Given the description of an element on the screen output the (x, y) to click on. 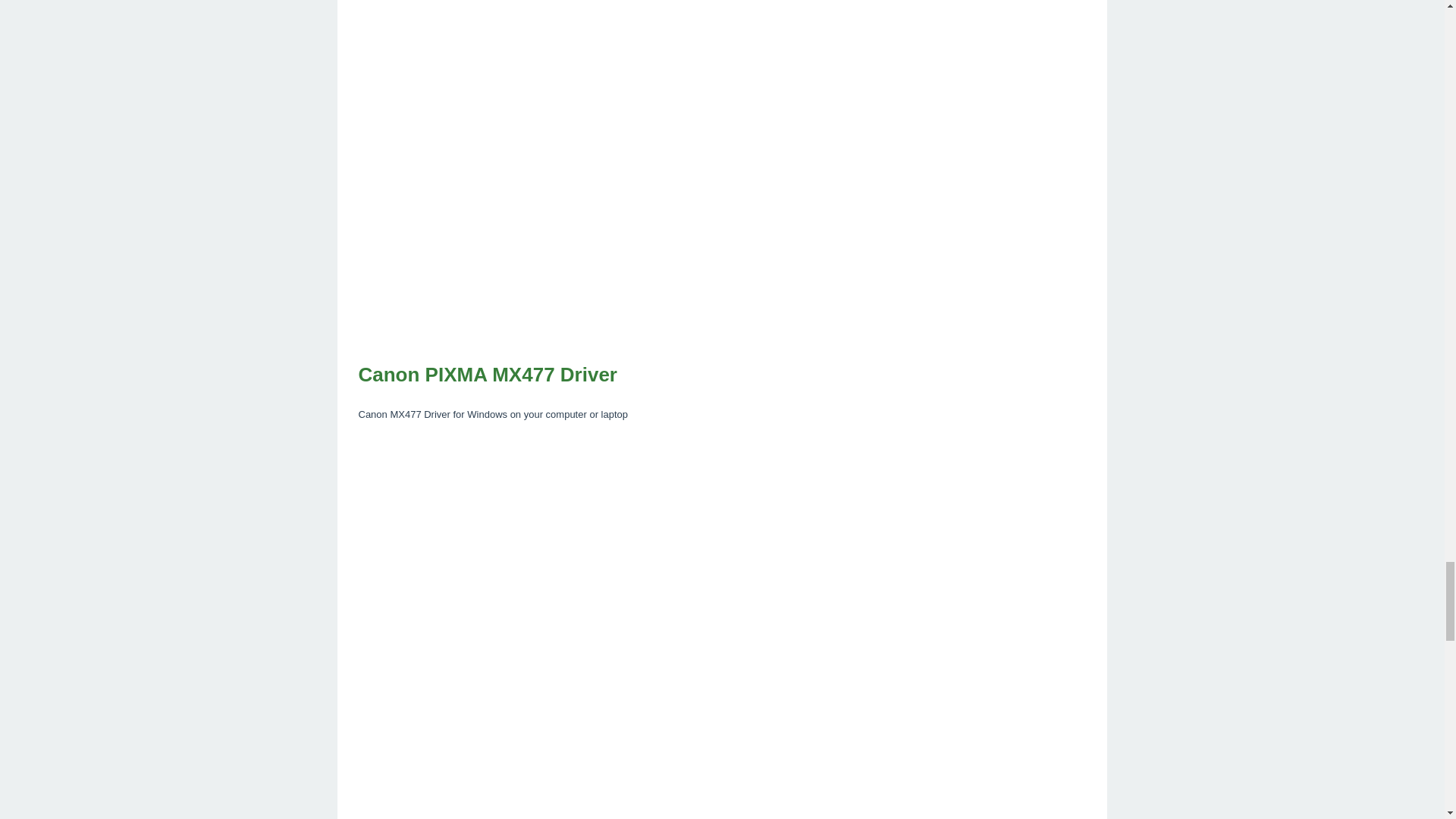
Canon PIXMA MX477 Driver (722, 375)
